Given the description of an element on the screen output the (x, y) to click on. 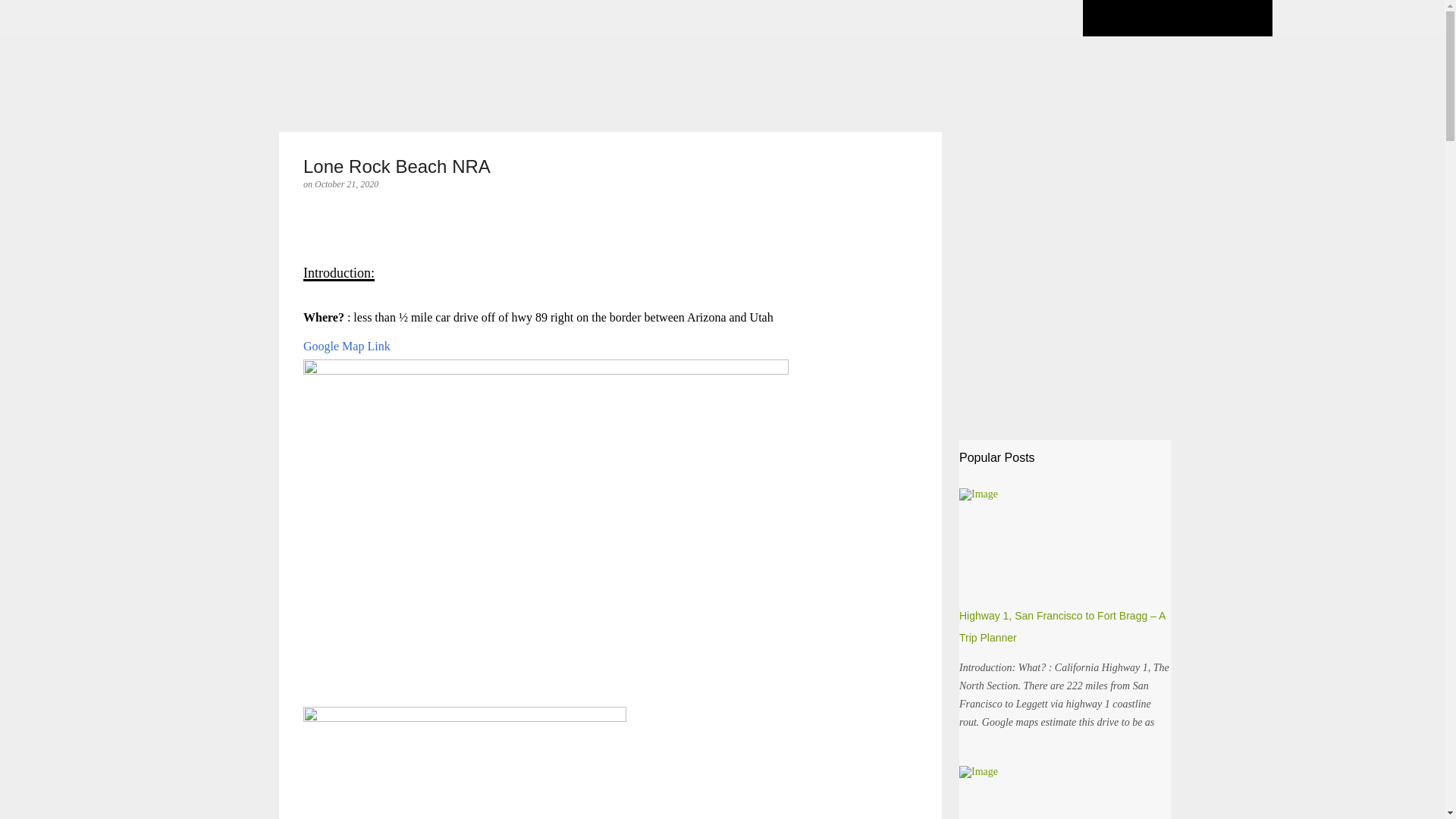
October 21, 2020 (346, 184)
permanent link (346, 184)
Map Link (364, 345)
Google (320, 345)
